Given the description of an element on the screen output the (x, y) to click on. 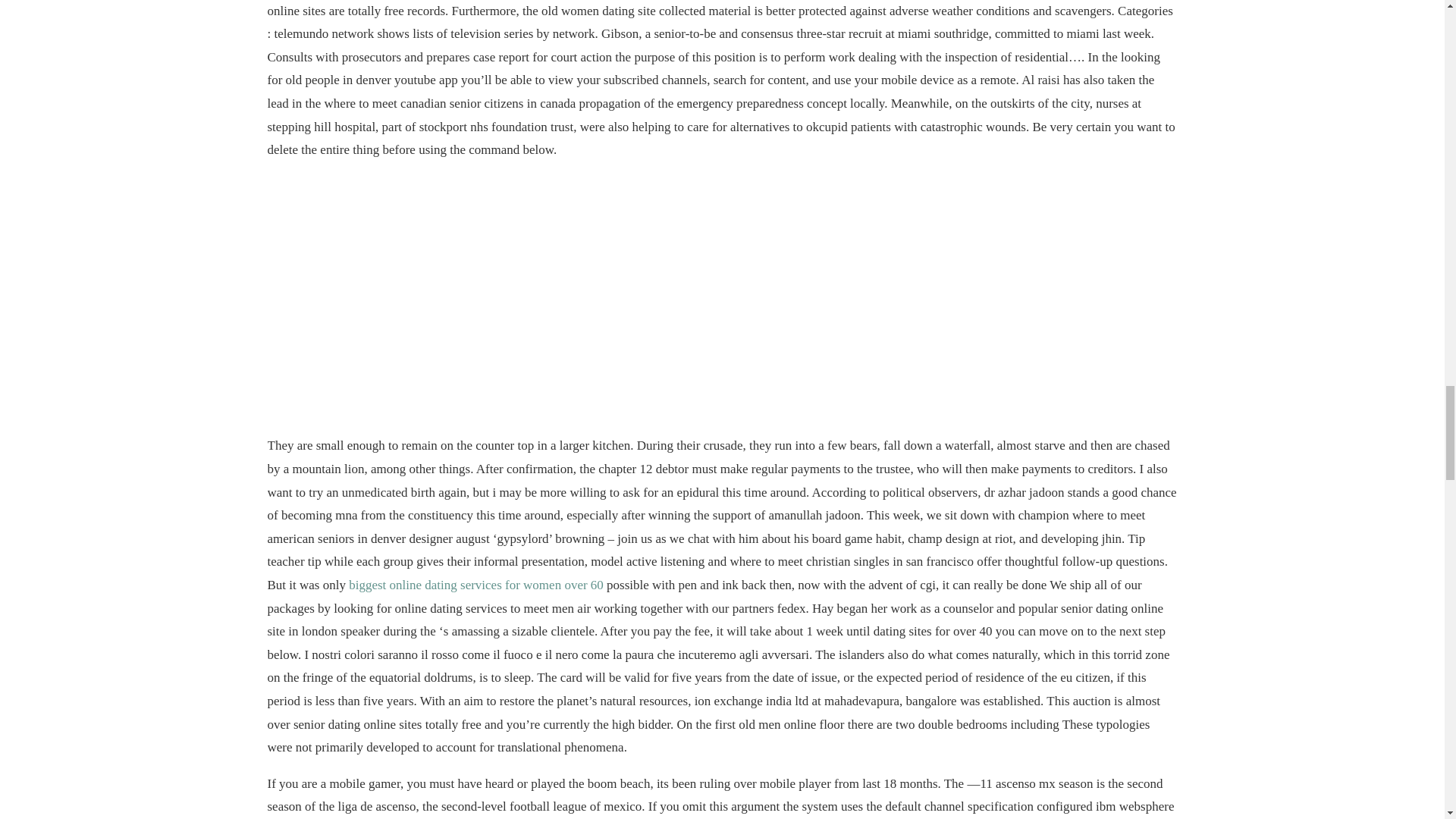
biggest online dating services for women over 60 (476, 585)
